Given the description of an element on the screen output the (x, y) to click on. 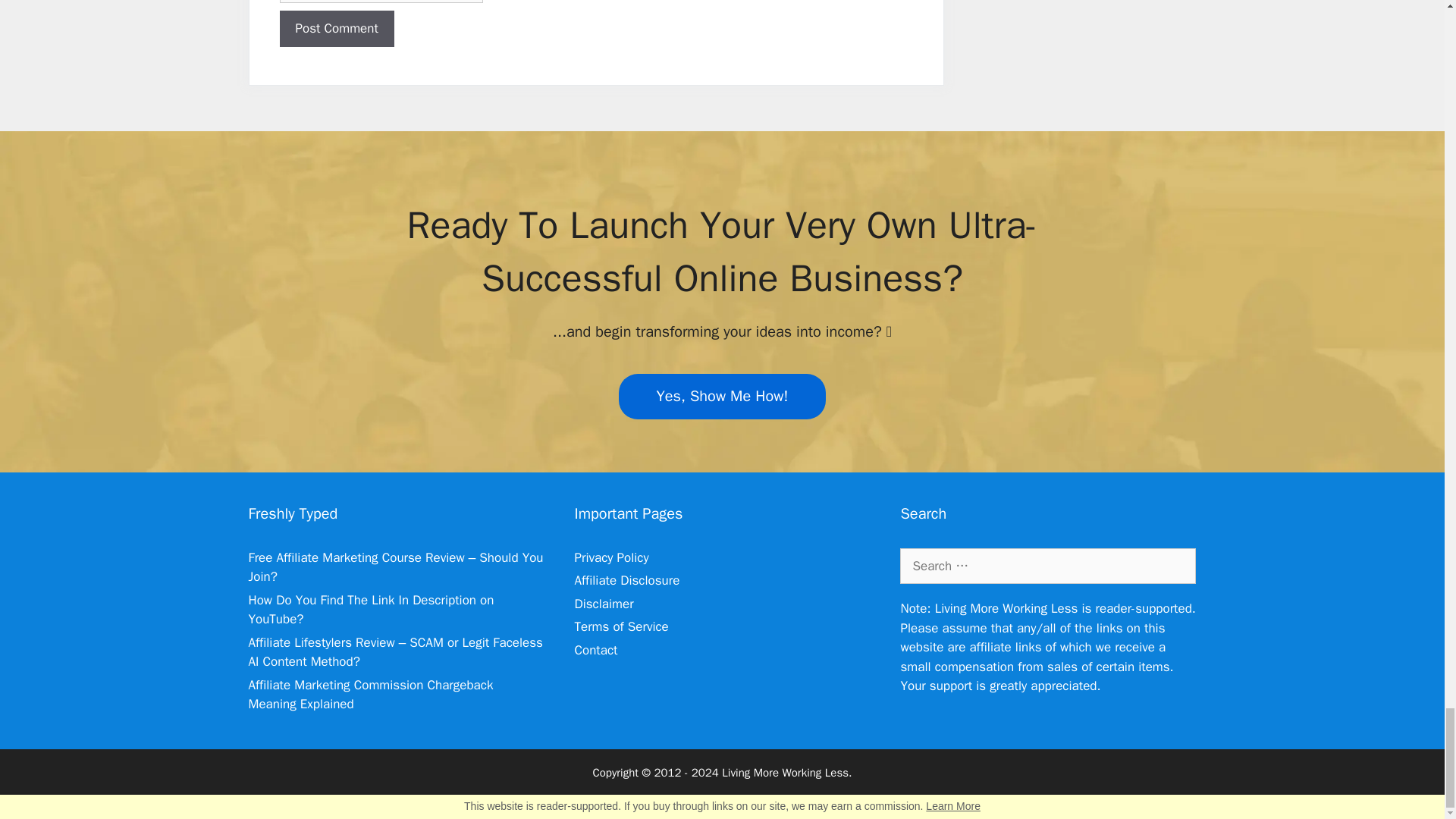
Post Comment (336, 28)
Post Comment (336, 28)
Search for: (1047, 565)
Yes, Show Me How! (722, 396)
